Given the description of an element on the screen output the (x, y) to click on. 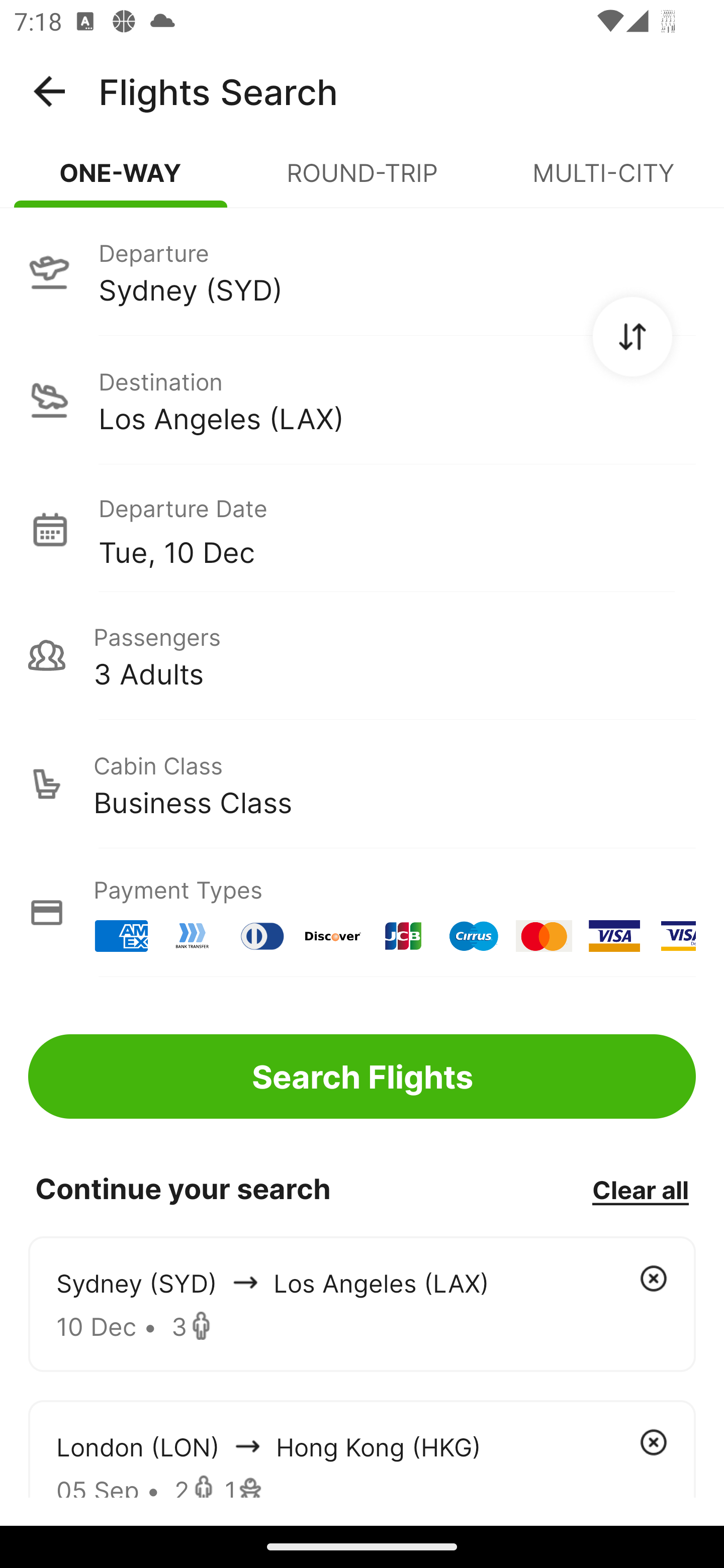
ONE-WAY (120, 180)
ROUND-TRIP (361, 180)
MULTI-CITY (603, 180)
Departure Sydney (SYD) (362, 270)
Destination Los Angeles (LAX) (362, 400)
Departure Date Tue, 10 Dec (396, 528)
Passengers 3 Adults (362, 655)
Cabin Class Business Class (362, 783)
Payment Types (362, 912)
Search Flights (361, 1075)
Clear all (640, 1189)
